Given the description of an element on the screen output the (x, y) to click on. 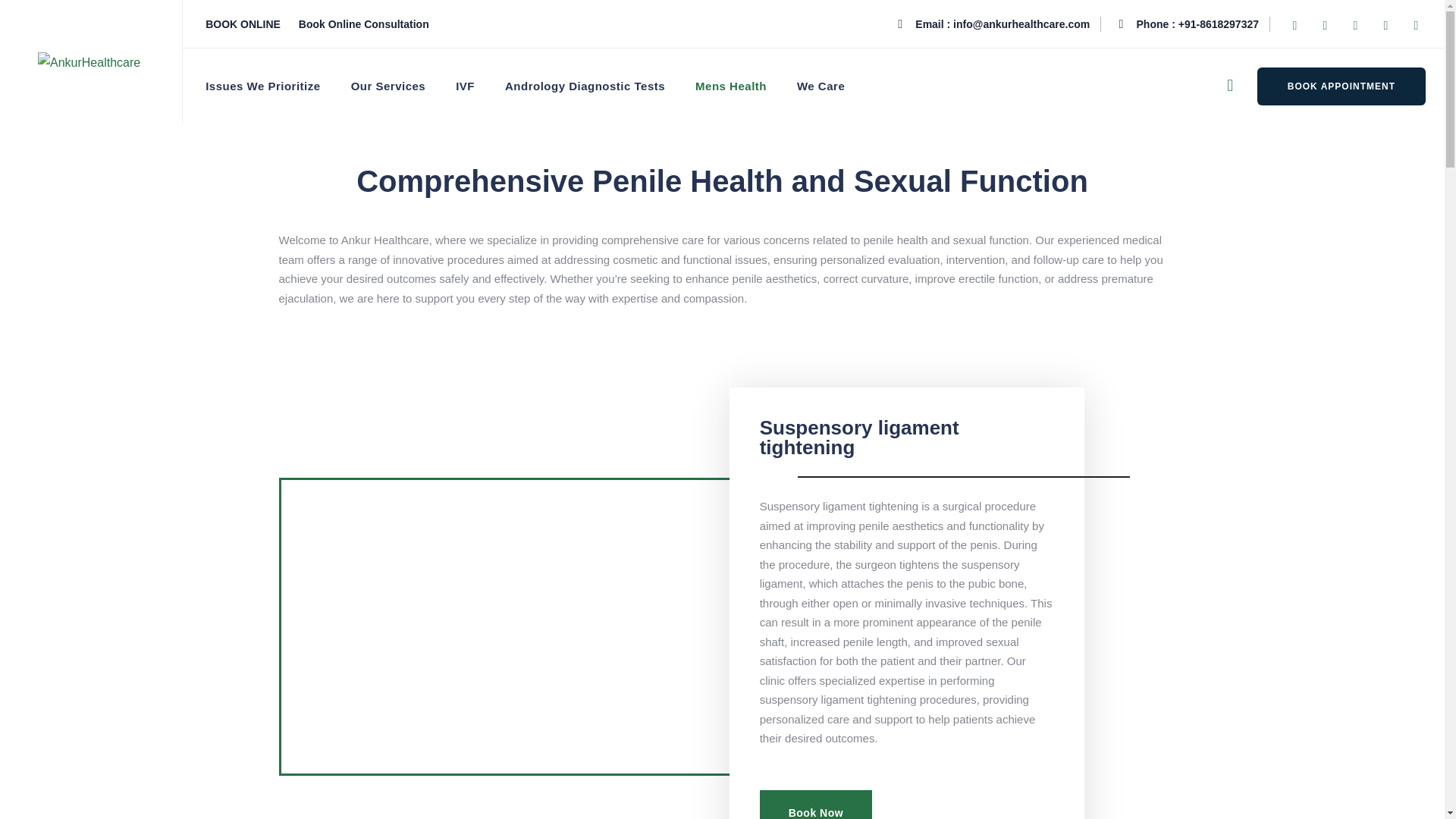
AnkurHealthcare (88, 62)
Andrology Diagnostic Tests (585, 86)
Mens Health (731, 86)
Book Now (816, 804)
BOOK APPOINTMENT (1341, 86)
We Care (820, 86)
Issues We Prioritize (262, 86)
IVF (464, 86)
Our Services (388, 86)
